Given the description of an element on the screen output the (x, y) to click on. 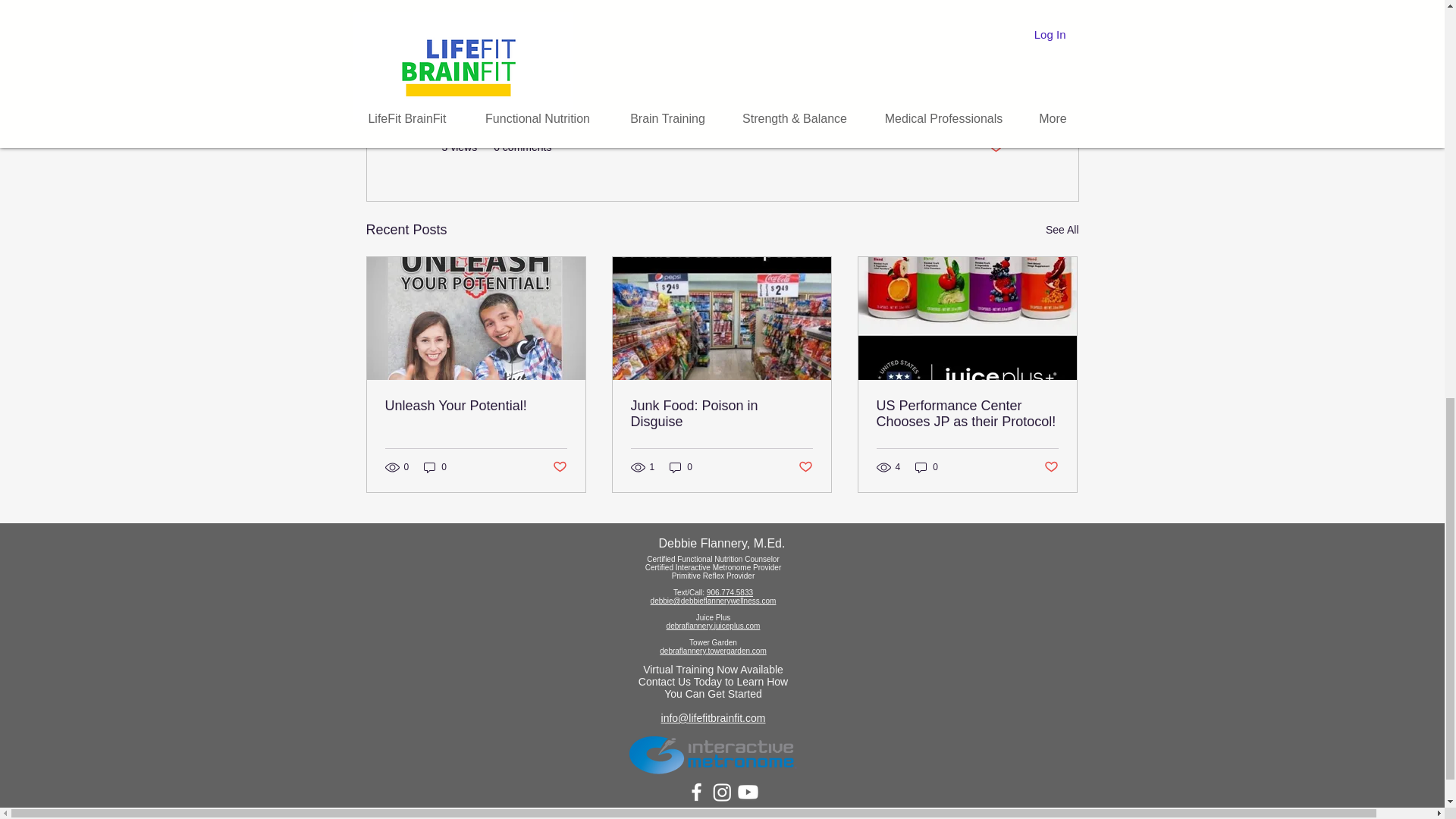
Unleash Your Potential! (476, 406)
Post not marked as liked (804, 467)
Post not marked as liked (995, 147)
im-logo.png (712, 753)
0 (681, 466)
0 (435, 466)
Post not marked as liked (558, 467)
Junk Food: Poison in Disguise (721, 413)
See All (1061, 229)
